Given the description of an element on the screen output the (x, y) to click on. 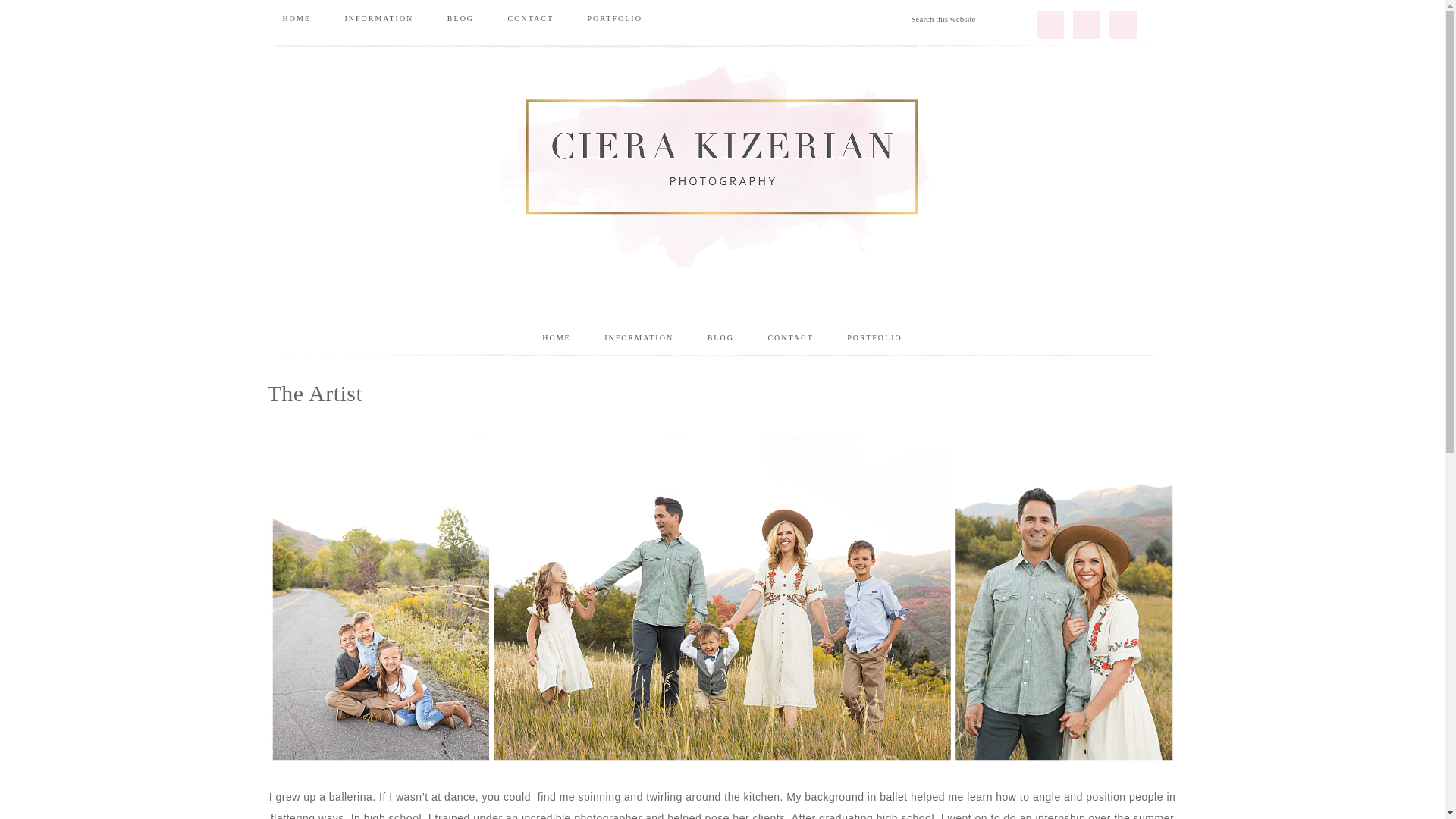
CONTACT (790, 338)
CONTACT (531, 18)
BLOG (721, 338)
PORTFOLIO (874, 338)
HOME (556, 338)
PORTFOLIO (615, 18)
HOME (295, 18)
INFORMATION (378, 18)
